Given the description of an element on the screen output the (x, y) to click on. 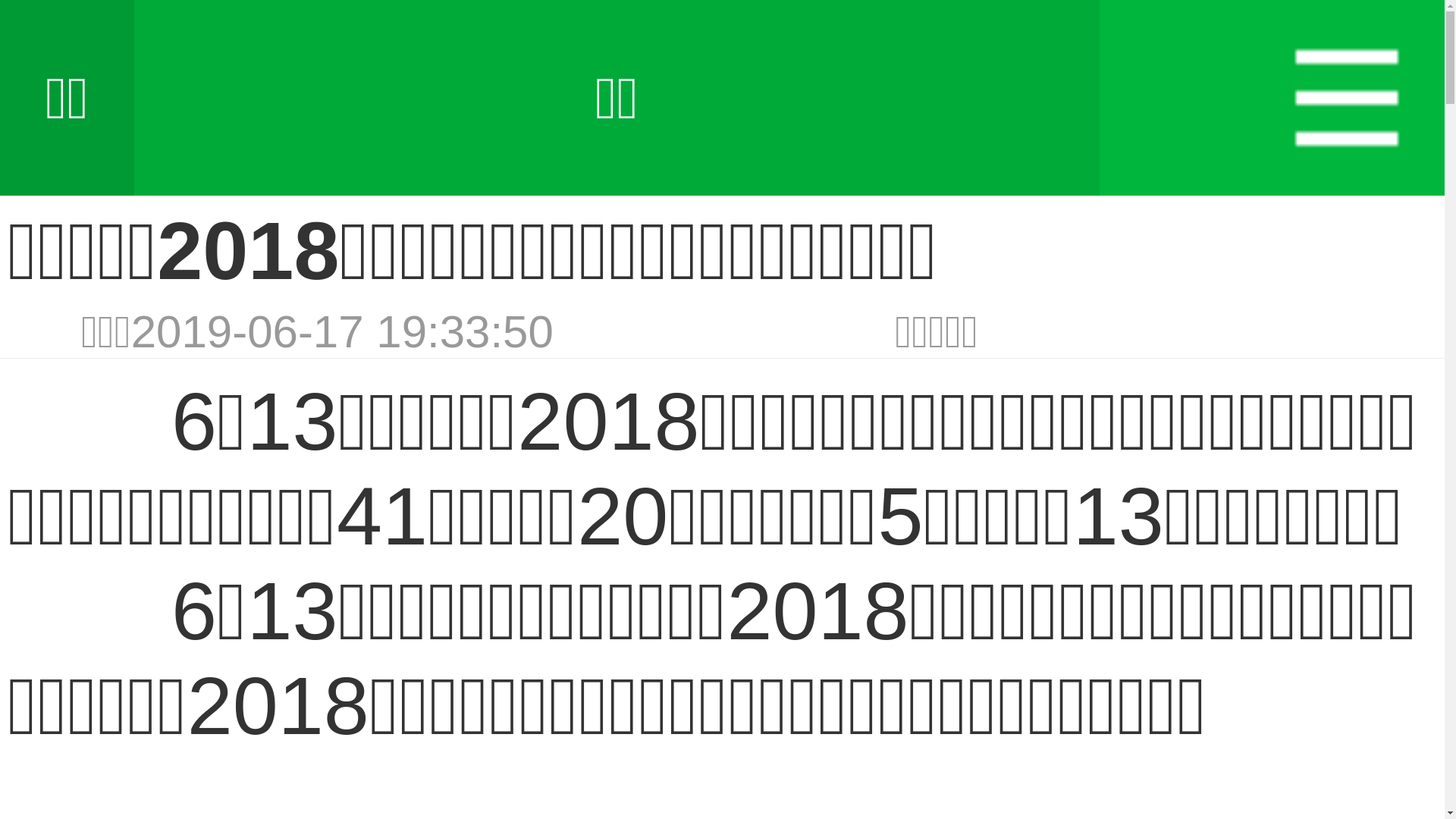
2018 Element type: text (608, 421)
